Given the description of an element on the screen output the (x, y) to click on. 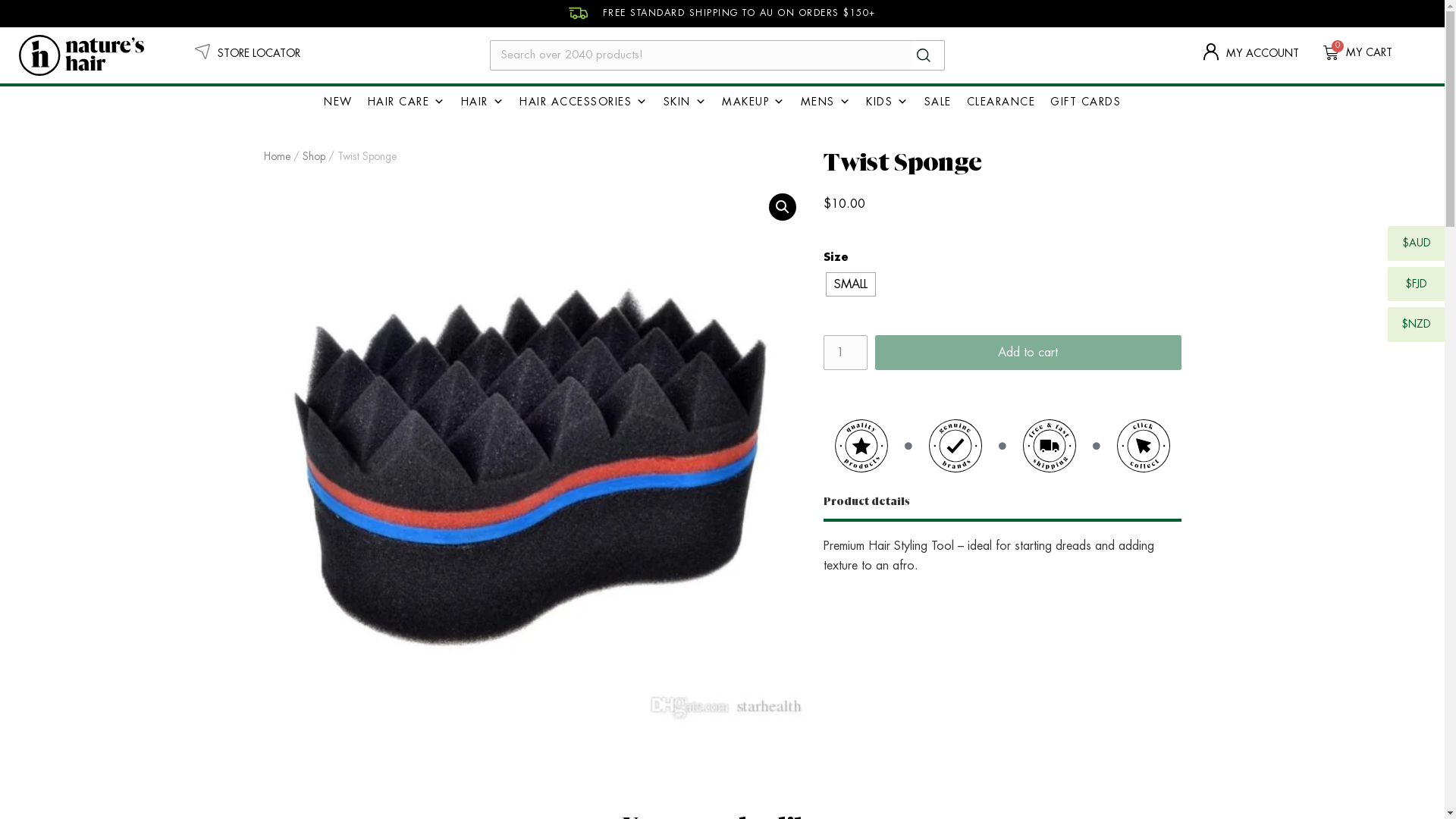
wp-image-2013791879195.jpg Element type: hover (535, 453)
MENS Element type: text (826, 101)
Add to cart Element type: text (1028, 352)
HAIR CARE Element type: text (405, 101)
SALE Element type: text (937, 101)
GIFT CARDS Element type: text (1085, 101)
MY CART Element type: text (1369, 52)
HAIR Element type: text (482, 101)
$NZD Element type: text (1415, 324)
MAKEUP Element type: text (753, 101)
STORE LOCATOR Element type: text (247, 52)
HAIR ACCESSORIES Element type: text (583, 101)
CLEARANCE Element type: text (1000, 101)
MY ACCOUNT Element type: text (1251, 52)
0 Element type: text (1330, 52)
NEW Element type: text (338, 101)
$FJD Element type: text (1415, 283)
SKIN Element type: text (684, 101)
KIDS Element type: text (887, 101)
Shop Element type: text (312, 156)
$AUD Element type: text (1415, 242)
Home Element type: text (276, 156)
